Given the description of an element on the screen output the (x, y) to click on. 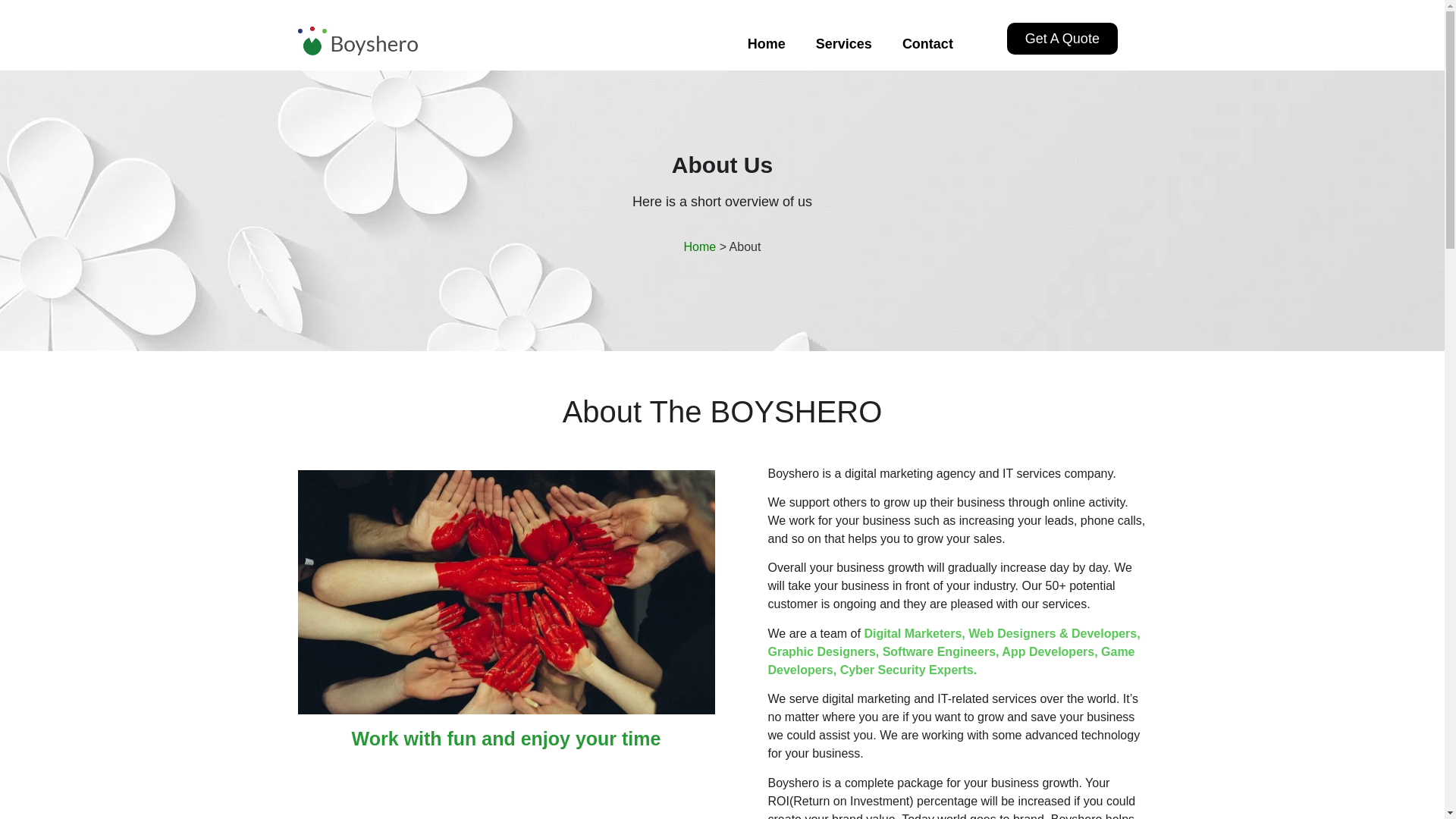
Contact (927, 43)
boyshero (505, 592)
Home (700, 246)
Get A Quote (1062, 38)
Services (843, 43)
Home (766, 43)
